Given the description of an element on the screen output the (x, y) to click on. 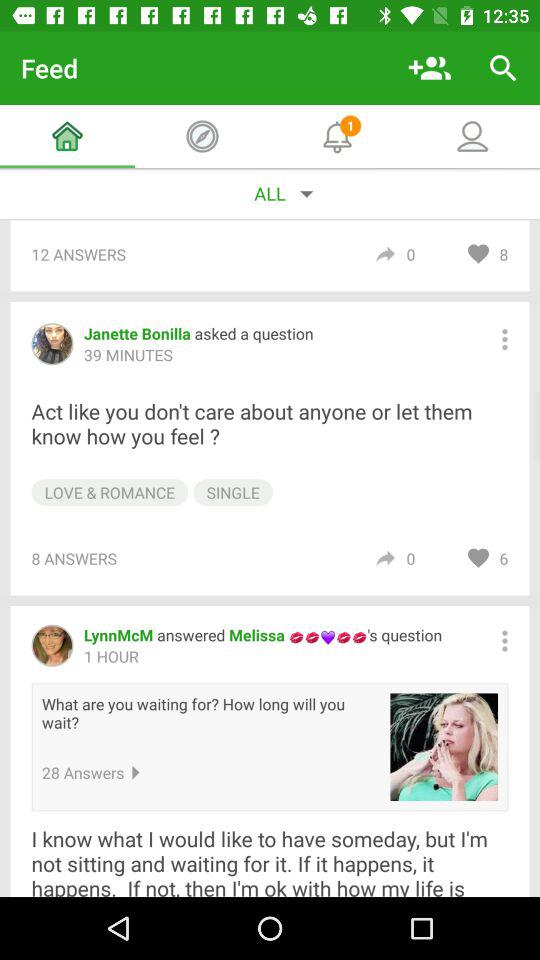
comment options (504, 339)
